Given the description of an element on the screen output the (x, y) to click on. 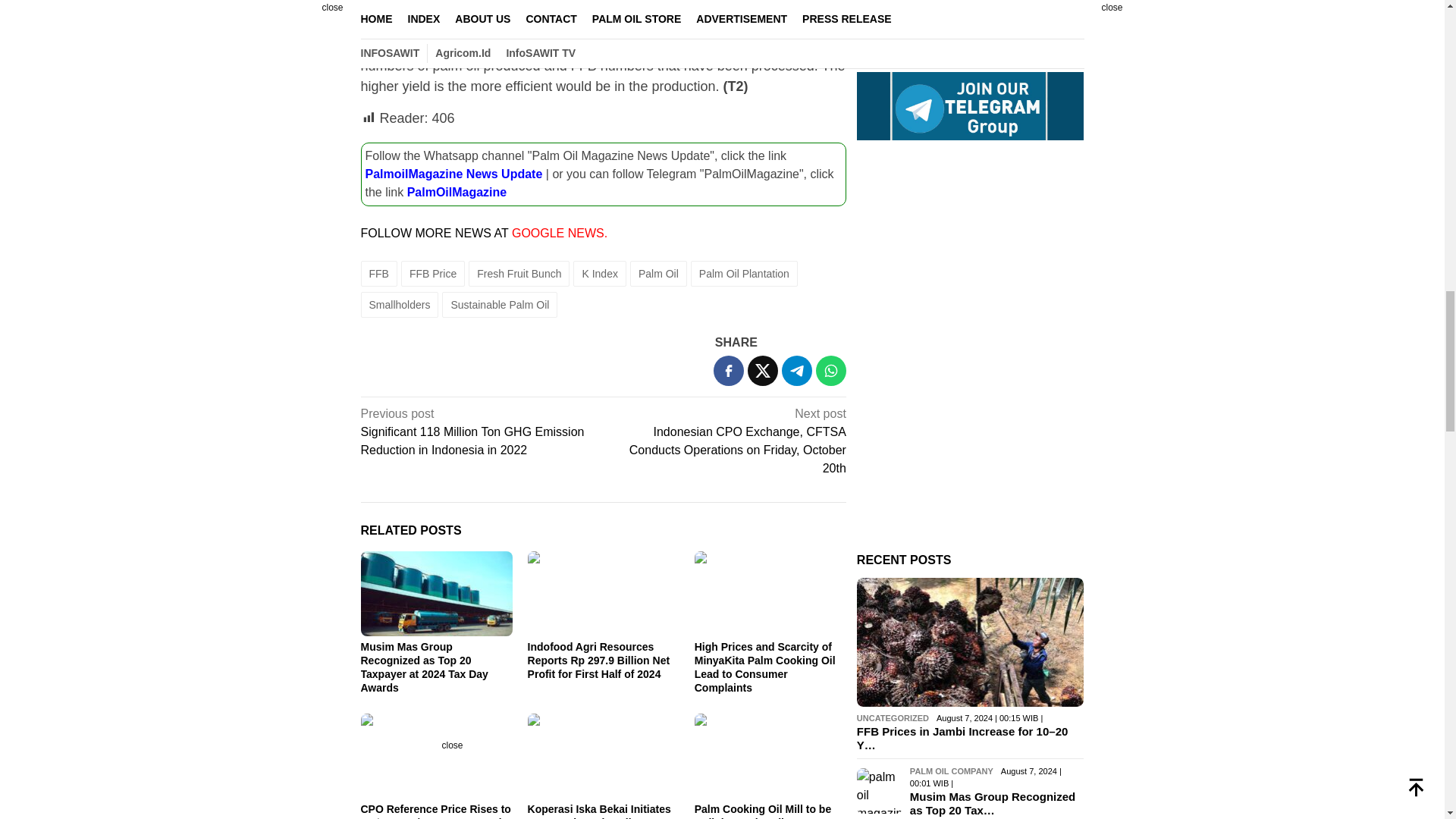
PalmoilMagazine News Update (454, 173)
FOLLOW MORE NEWS AT (436, 232)
PalmOilMagazine (456, 191)
